Given the description of an element on the screen output the (x, y) to click on. 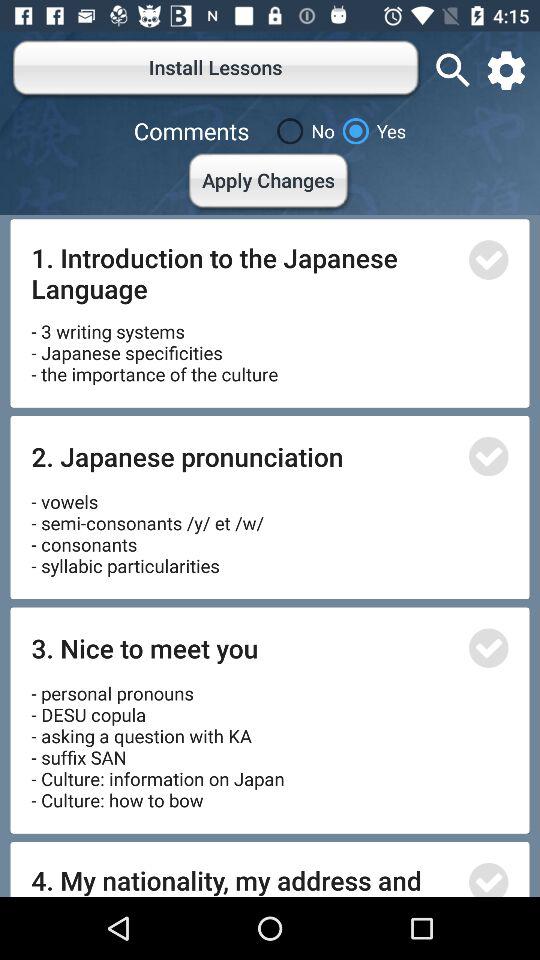
go do sealet (488, 259)
